Given the description of an element on the screen output the (x, y) to click on. 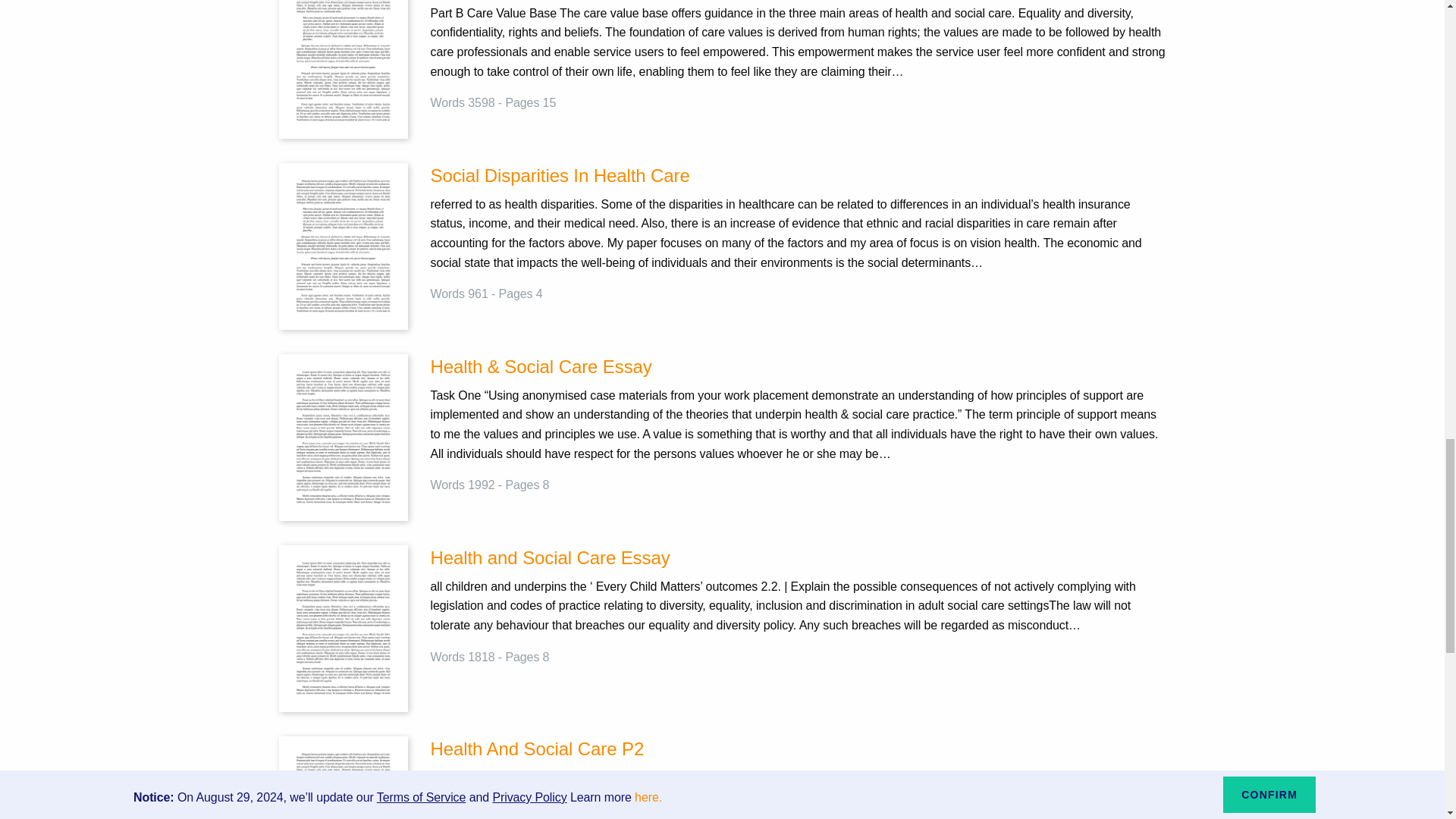
Health And Social Care P2 (798, 749)
Social Disparities In Health Care (798, 175)
Social Disparities In Health Care (343, 245)
Health and Social Care Essay (798, 557)
Health And Social Care P2 (343, 816)
Social Disparities In Health Care (798, 175)
Health And Social Care Values (343, 54)
Health And Social Care P2 (798, 749)
Health and Social Care Essay (343, 627)
Health and Social Care Essay (798, 557)
